Given the description of an element on the screen output the (x, y) to click on. 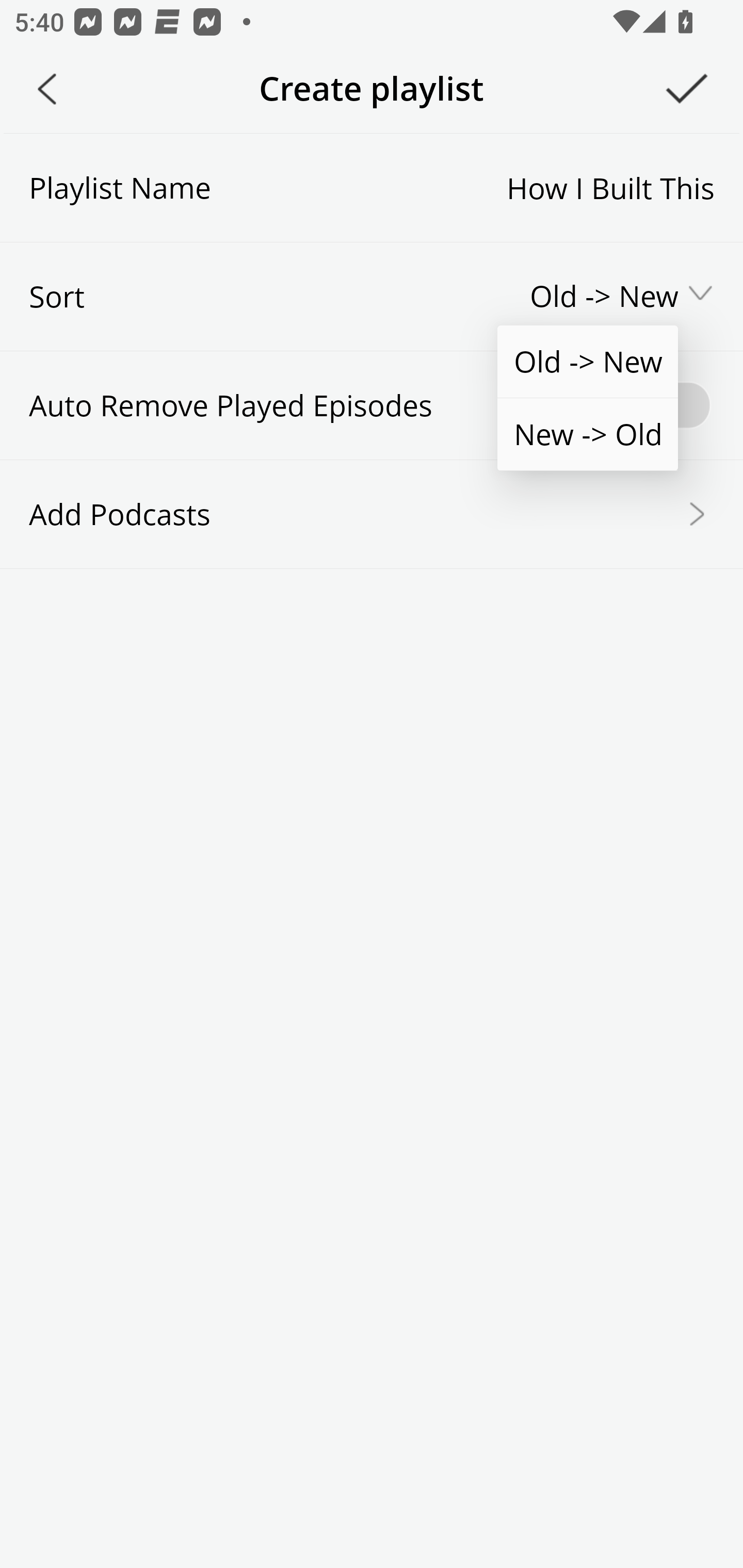
Old -> New (587, 362)
New -> Old (587, 434)
